Given the description of an element on the screen output the (x, y) to click on. 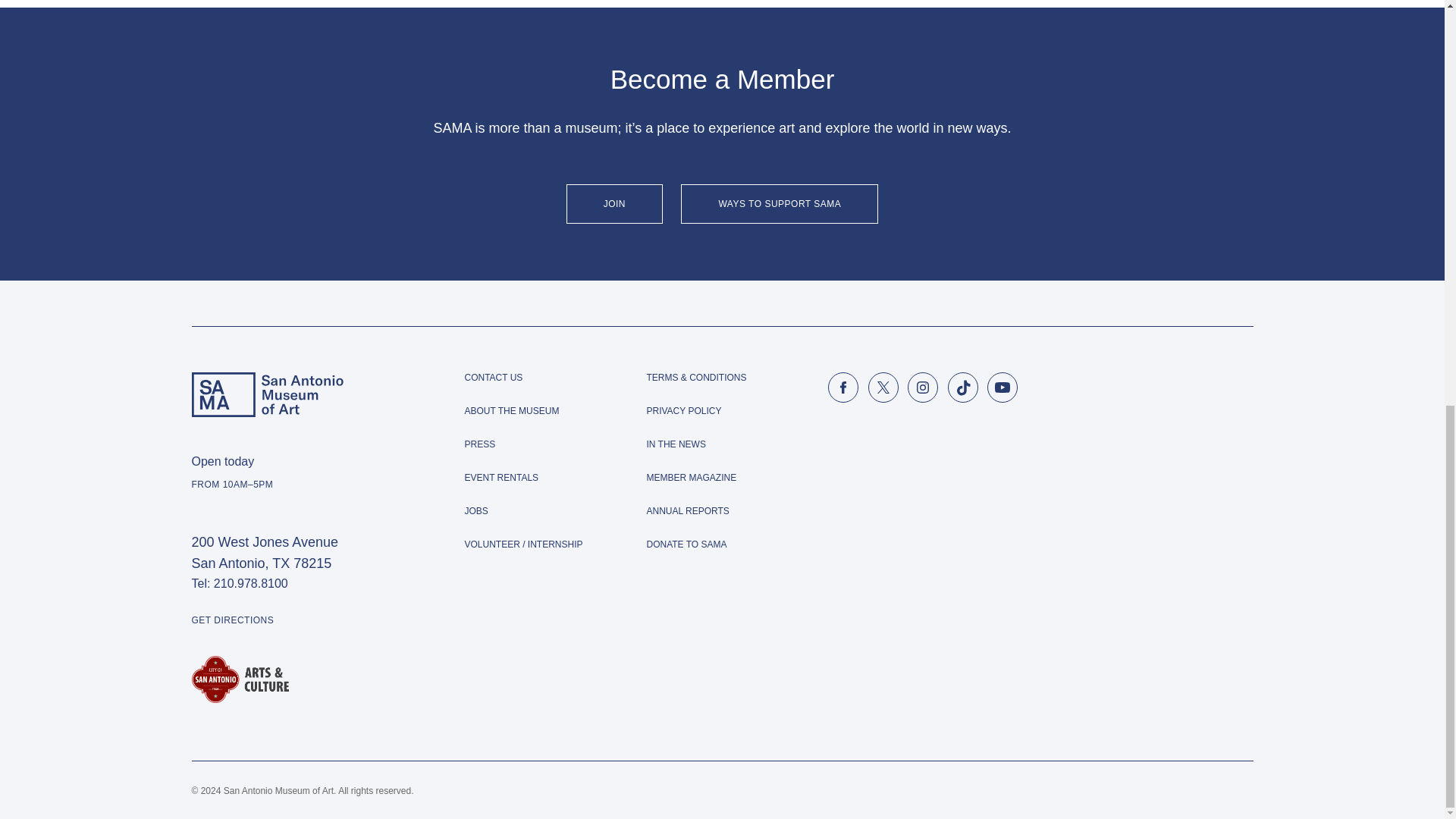
TikTok (962, 387)
facebook (843, 387)
San Antonio Museum of Art (266, 394)
Youtube (1002, 387)
Instagram (922, 387)
